Given the description of an element on the screen output the (x, y) to click on. 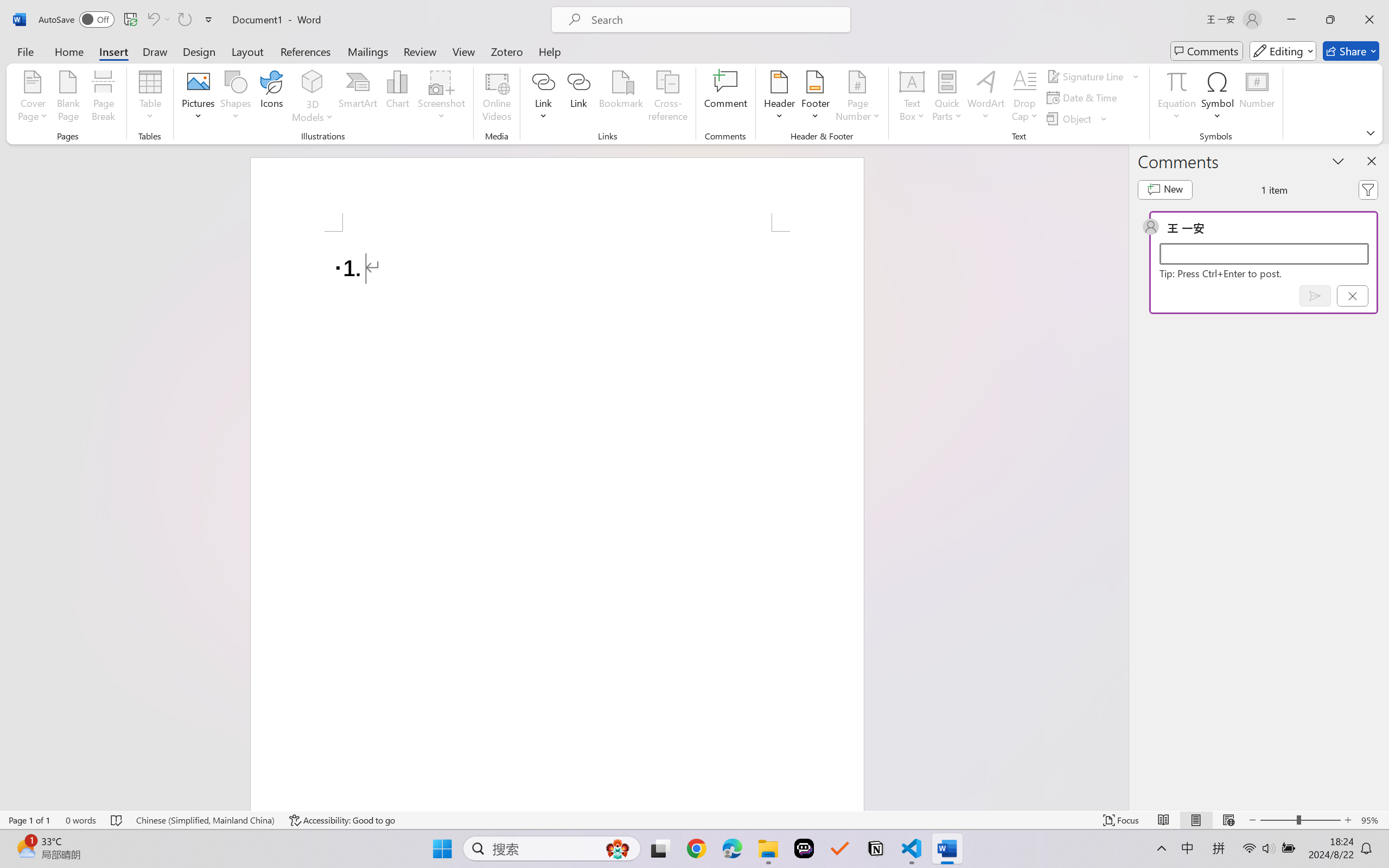
WordArt (986, 97)
New comment (1165, 189)
Equation (1176, 97)
Screenshot (441, 97)
